Given the description of an element on the screen output the (x, y) to click on. 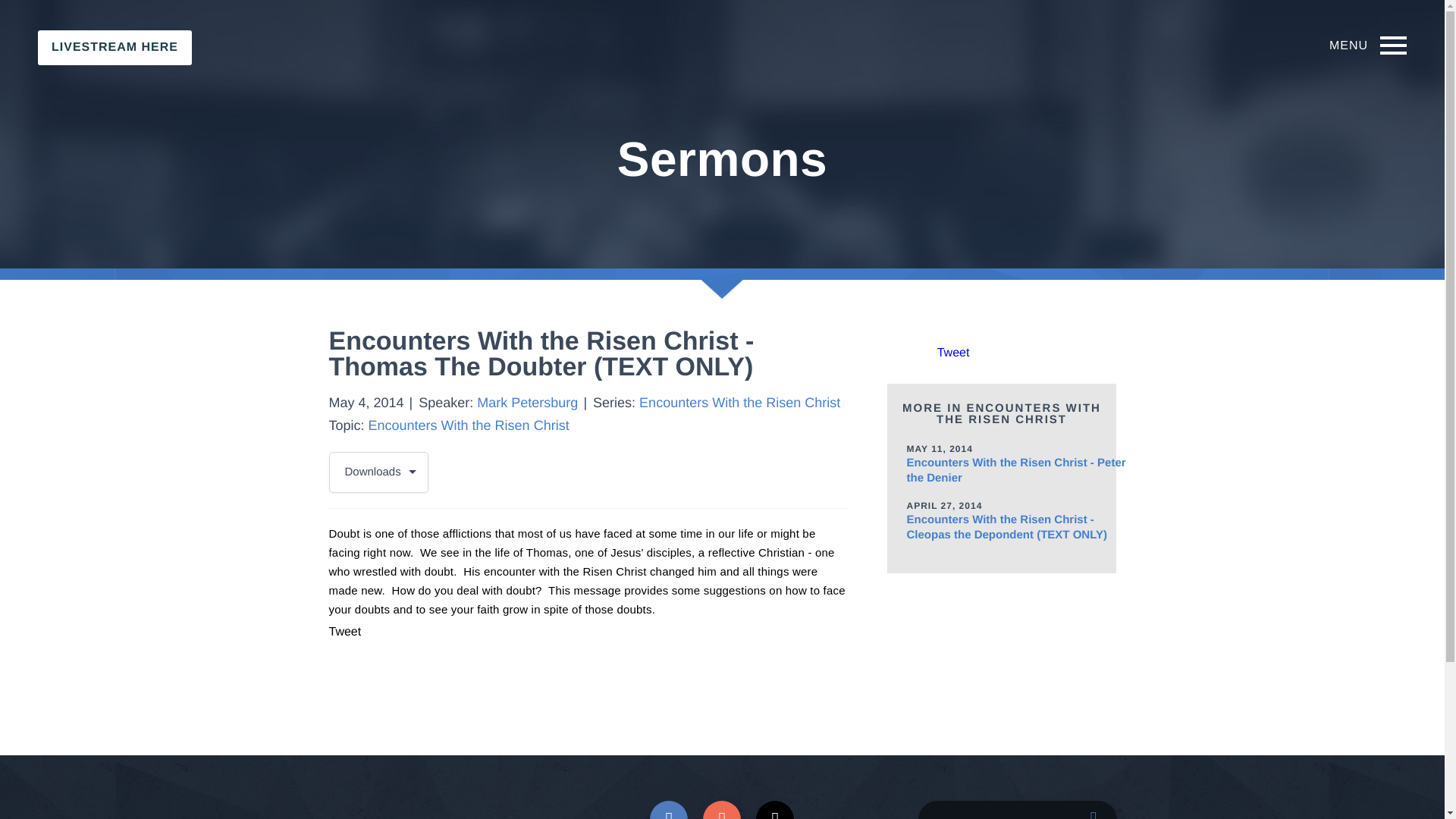
Mark Petersburg (527, 402)
MENU (1369, 45)
LIVESTREAM HERE (114, 47)
